Given the description of an element on the screen output the (x, y) to click on. 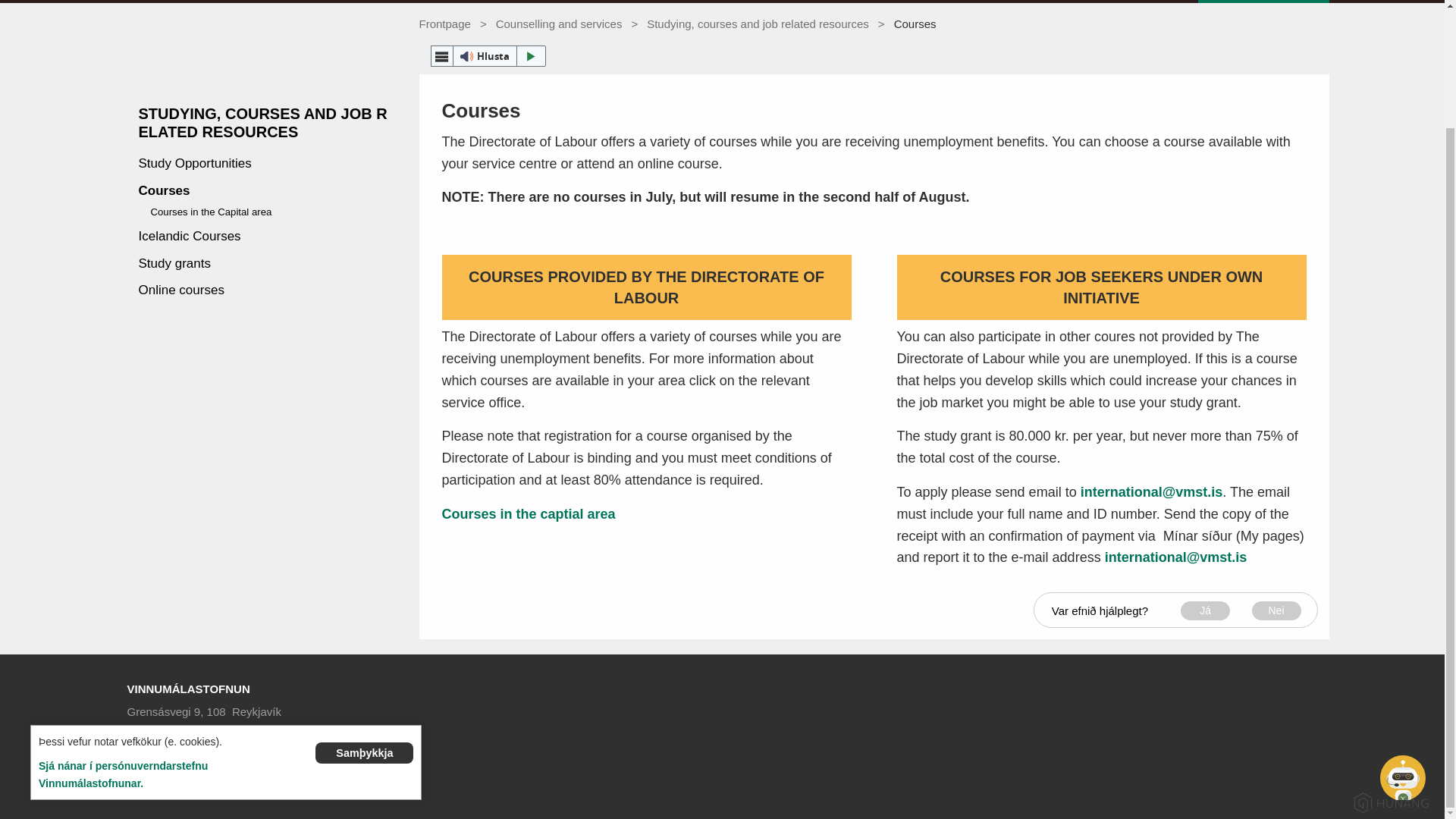
Employer (766, 1)
Listen to this page using ReadSpeaker webReader (488, 55)
webReader menu (441, 55)
Hunang logo (1391, 802)
Jobseeker (671, 1)
Counselling and services (559, 23)
Frontpage (444, 23)
BOOK AN APPOINTMENT (1263, 1)
Contact (149, 748)
Courses in the Capital area (527, 513)
Studying, courses and job related resources (757, 23)
Courses in the captial area (527, 513)
Hlusta (488, 55)
